Given the description of an element on the screen output the (x, y) to click on. 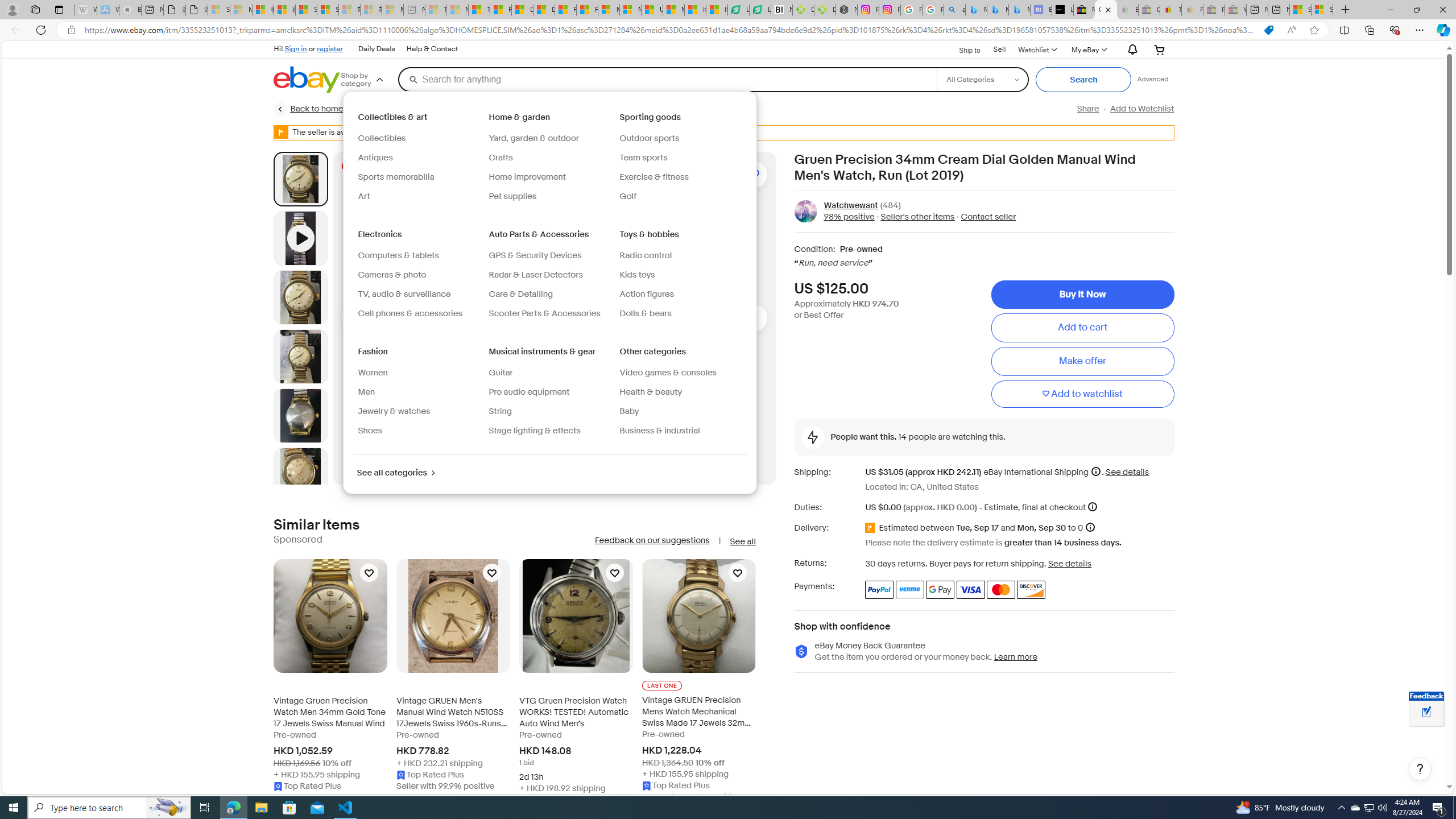
Venmo (909, 588)
Care & Detailing (549, 294)
Help & Contact (431, 49)
Add to cart (1082, 328)
GPS & Security Devices (534, 255)
Microsoft Bing Travel - Shangri-La Hotel Bangkok (1019, 9)
String (549, 411)
Golf (627, 196)
Foo BAR | Trusted Community Engagement and Contributions (587, 9)
